Given the description of an element on the screen output the (x, y) to click on. 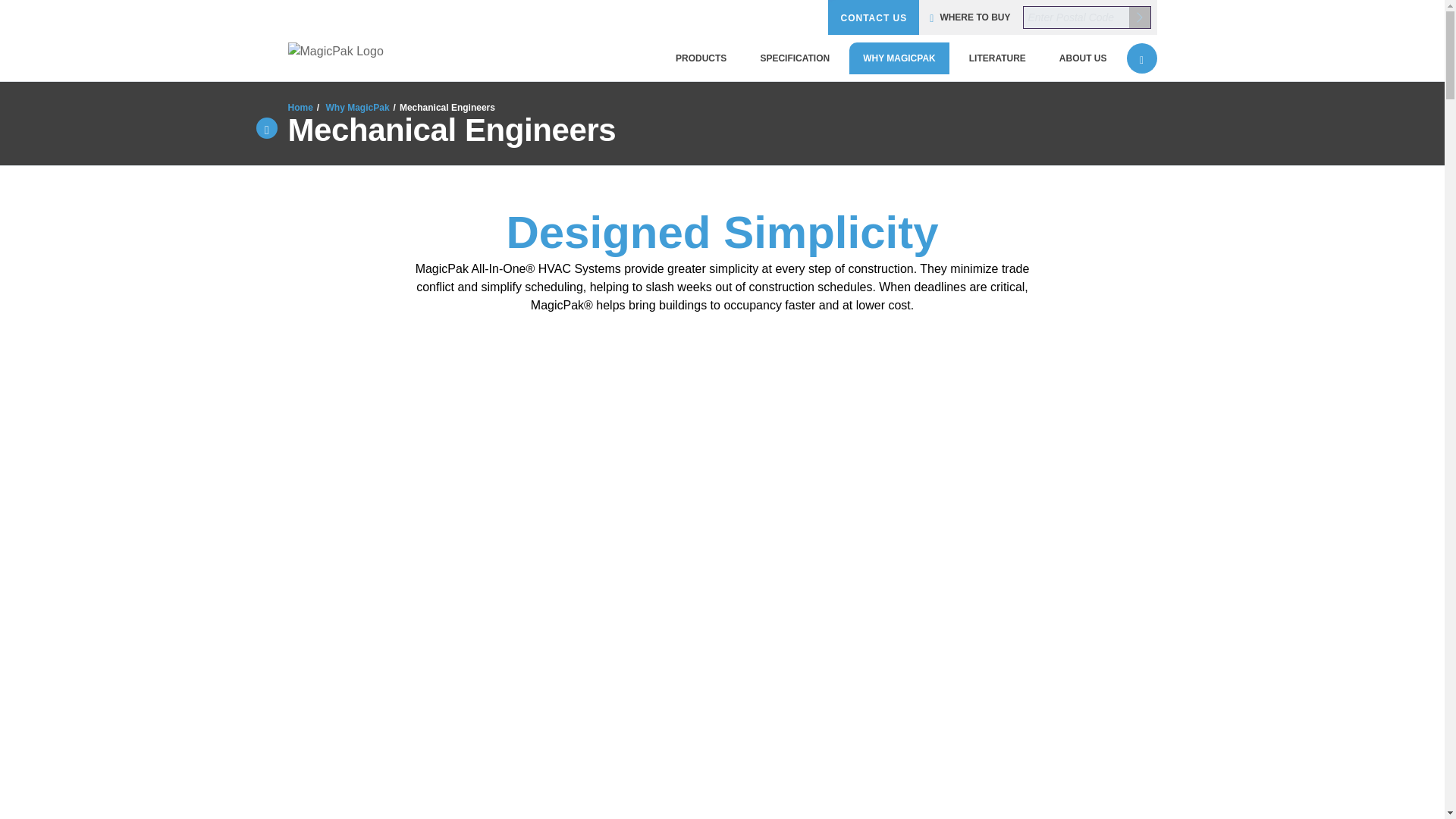
ABOUT US (1083, 58)
WHERE TO BUY (970, 17)
WHY MAGICPAK (898, 58)
Why MagicPak (898, 58)
LITERATURE (997, 58)
Search (1141, 58)
Find (1139, 16)
SPECIFICATION (794, 58)
Products (700, 58)
Literature (997, 58)
